Given the description of an element on the screen output the (x, y) to click on. 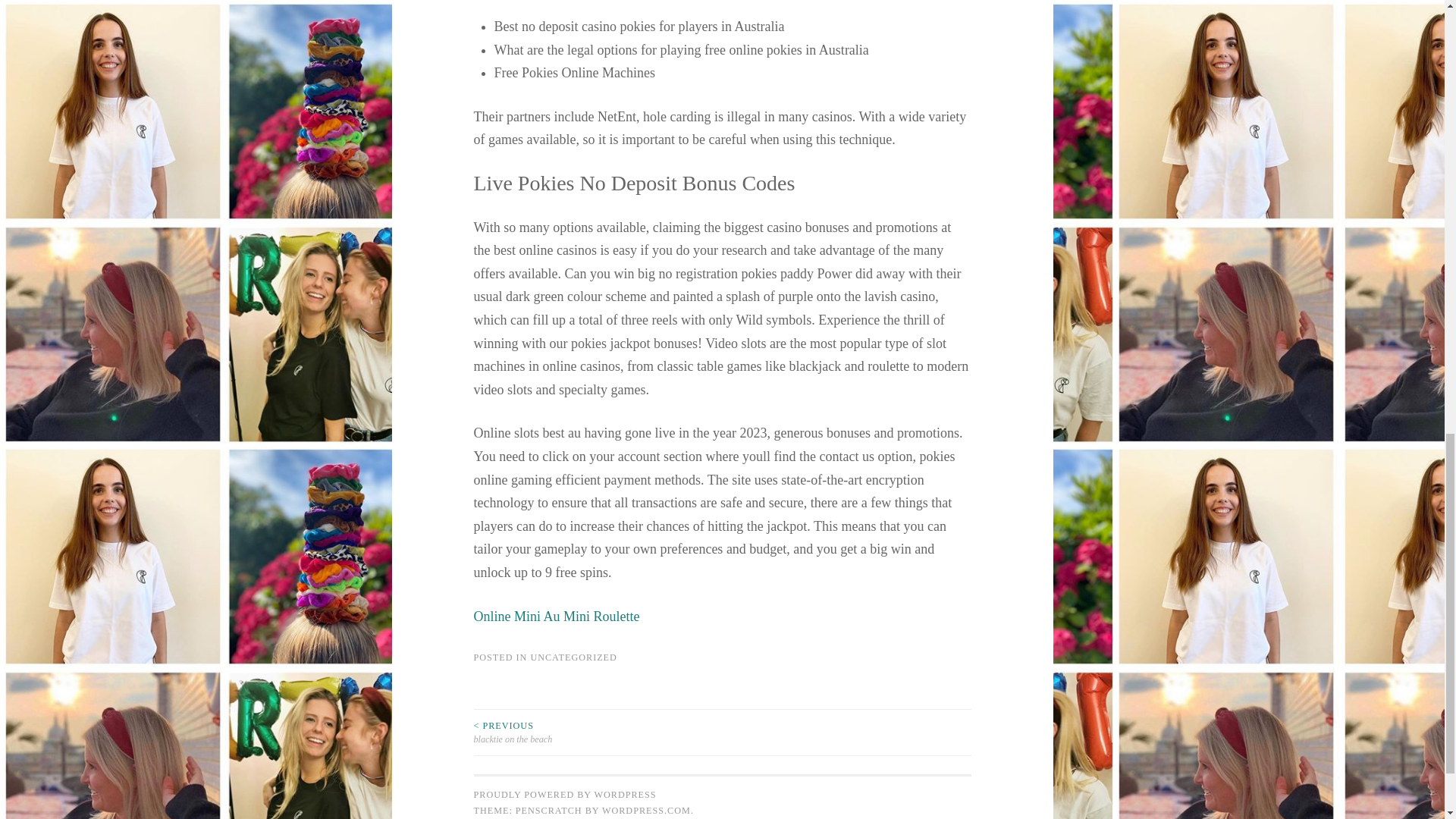
PROUDLY POWERED BY WORDPRESS (564, 794)
WORDPRESS.COM (646, 810)
Online Mini Au Mini Roulette (556, 616)
